Given the description of an element on the screen output the (x, y) to click on. 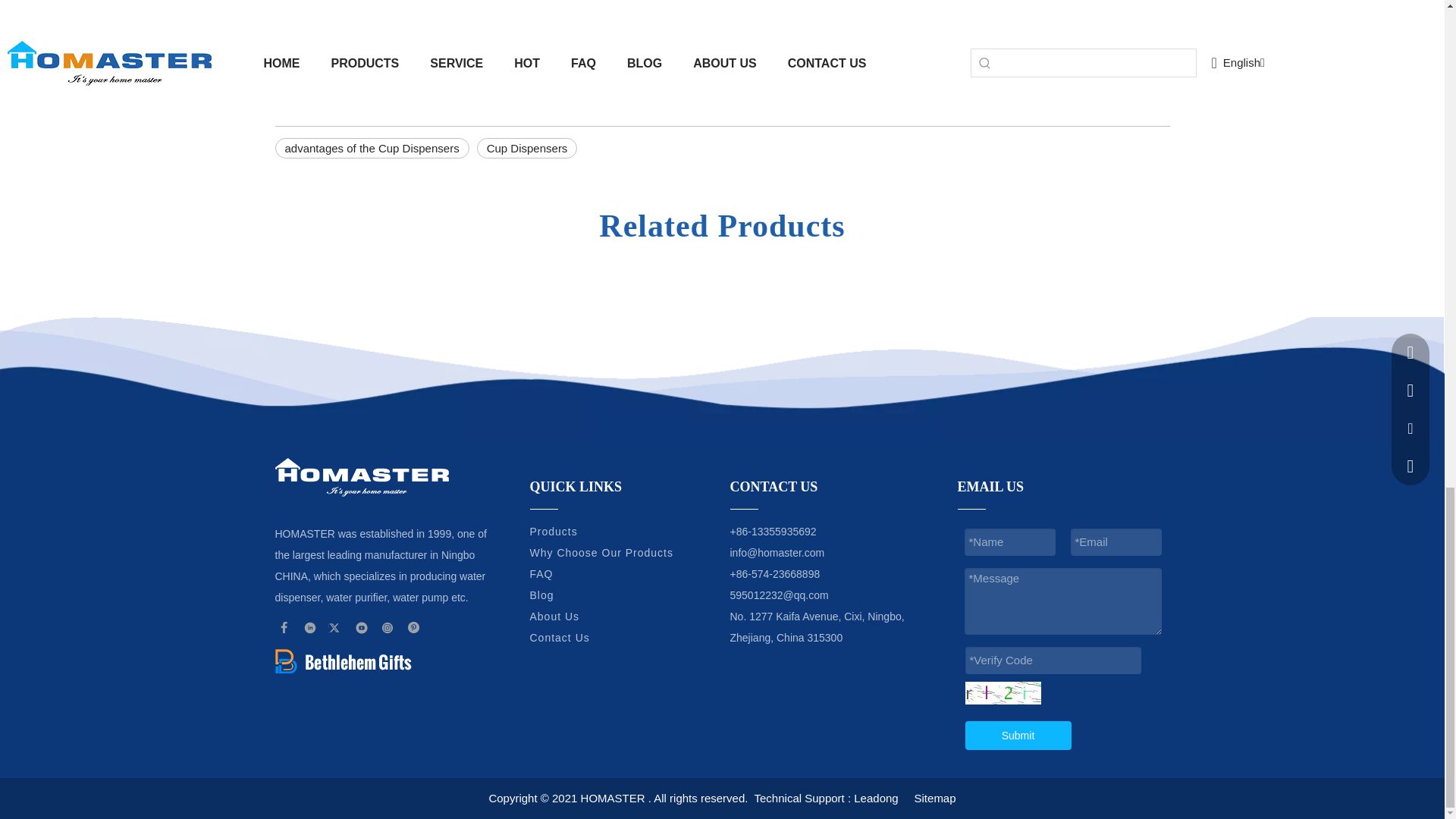
Twitter (336, 628)
Why Choose Our Products (600, 552)
Cup Dispensers (527, 148)
Products (552, 531)
Youtube (361, 628)
Pinterest (413, 628)
Linkedin (310, 628)
Facebook (284, 628)
Instagram (387, 628)
